Given the description of an element on the screen output the (x, y) to click on. 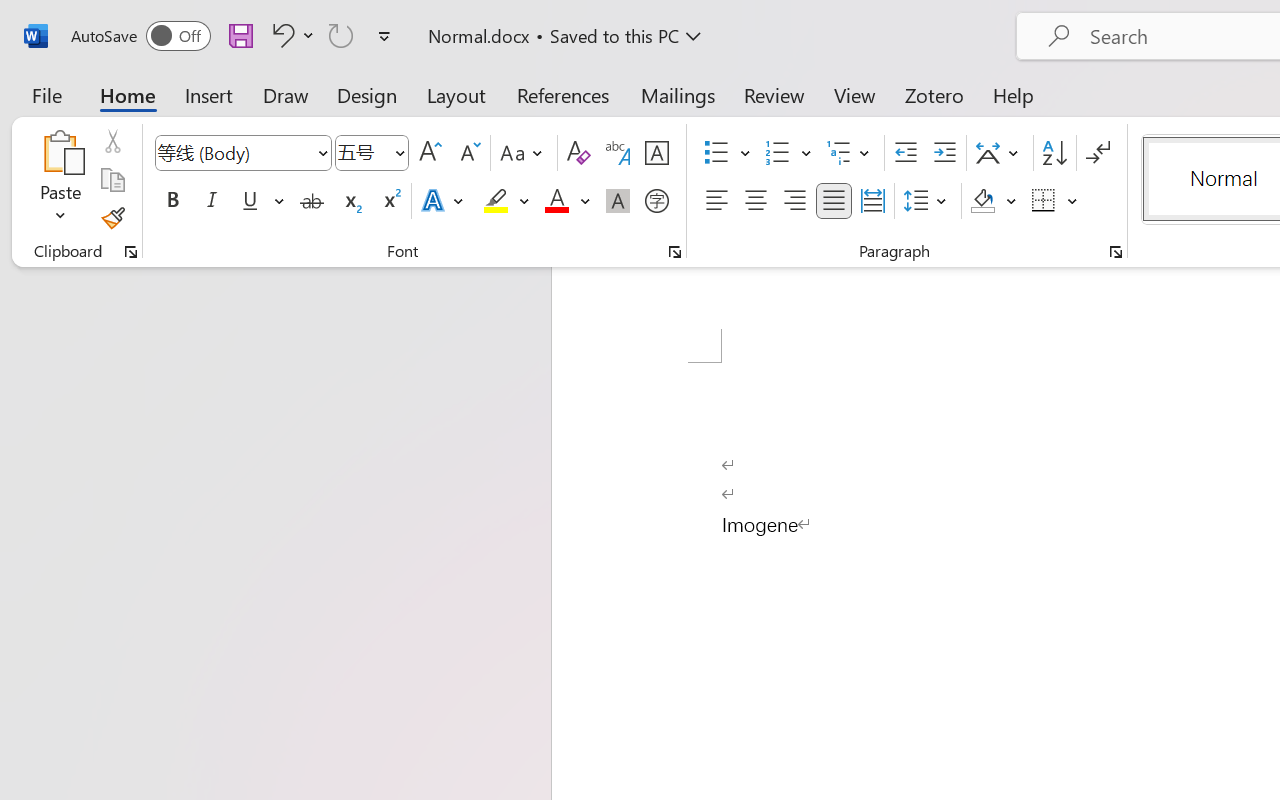
Undo Typing (280, 35)
Copy (112, 179)
Cut (112, 141)
Shading (993, 201)
Clear Formatting (578, 153)
Show/Hide Editing Marks (1098, 153)
Justify (834, 201)
Font... (675, 252)
